Given the description of an element on the screen output the (x, y) to click on. 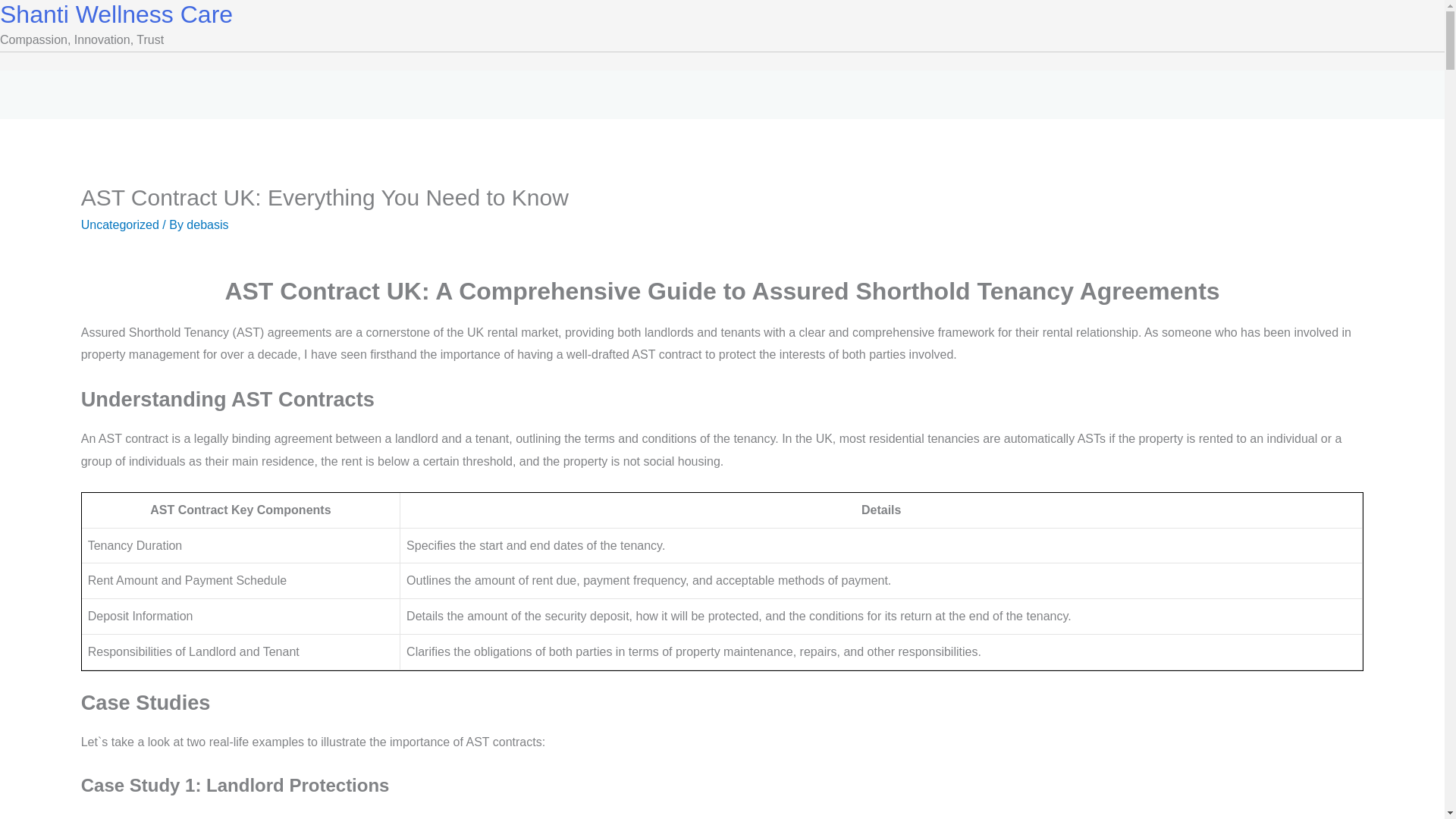
debasis (207, 224)
View all posts by debasis (207, 224)
Shanti Wellness Care (116, 13)
